Given the description of an element on the screen output the (x, y) to click on. 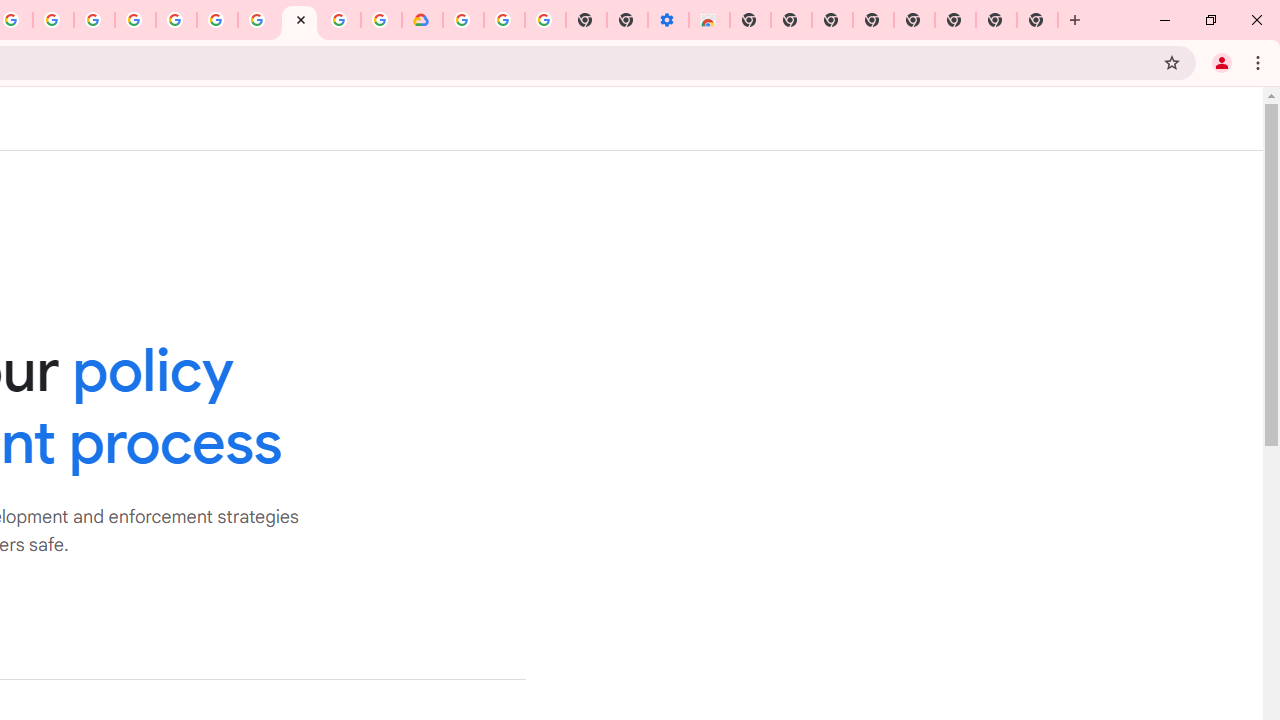
Google Account Help (258, 20)
Chrome Web Store - Accessibility extensions (708, 20)
Create your Google Account (53, 20)
Turn cookies on or off - Computer - Google Account Help (544, 20)
